Given the description of an element on the screen output the (x, y) to click on. 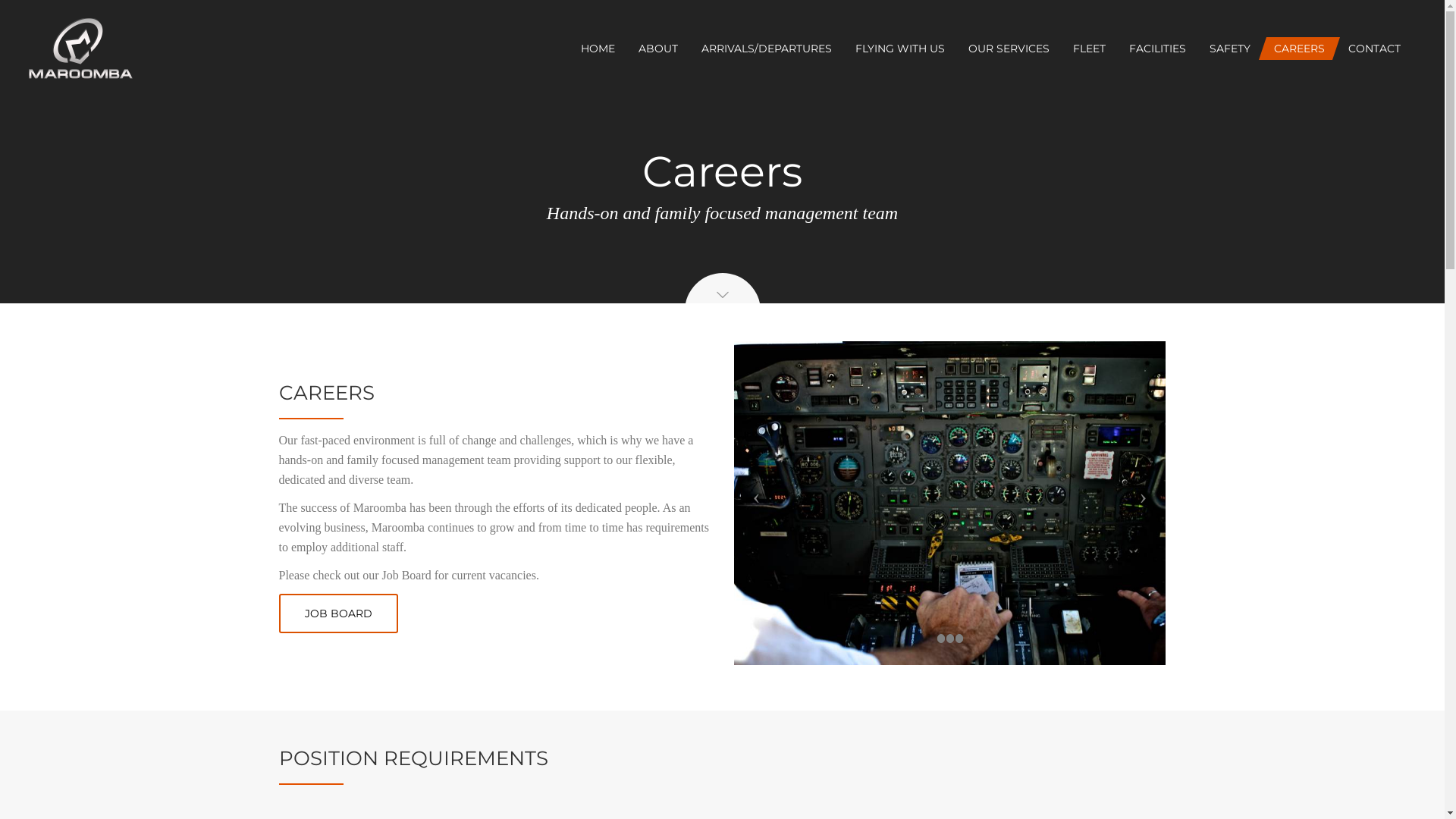
ARRIVALS/DEPARTURES Element type: text (766, 48)
CONTACT Element type: text (1374, 48)
JOB BOARD Element type: text (338, 613)
HOME Element type: text (597, 48)
FLYING WITH US Element type: text (900, 48)
OUR SERVICES Element type: text (1008, 48)
FLEET Element type: text (1088, 48)
SAFETY Element type: text (1229, 48)
ABOUT Element type: text (658, 48)
Maroomba Airlines Element type: hover (80, 48)
Bombardier Dash 8 VH-QQG Element type: hover (558, 503)
Bombardier Dash 8 Control Panel Element type: hover (975, 503)
FACILITIES Element type: text (1157, 48)
CAREERS Element type: text (1298, 48)
